Given the description of an element on the screen output the (x, y) to click on. 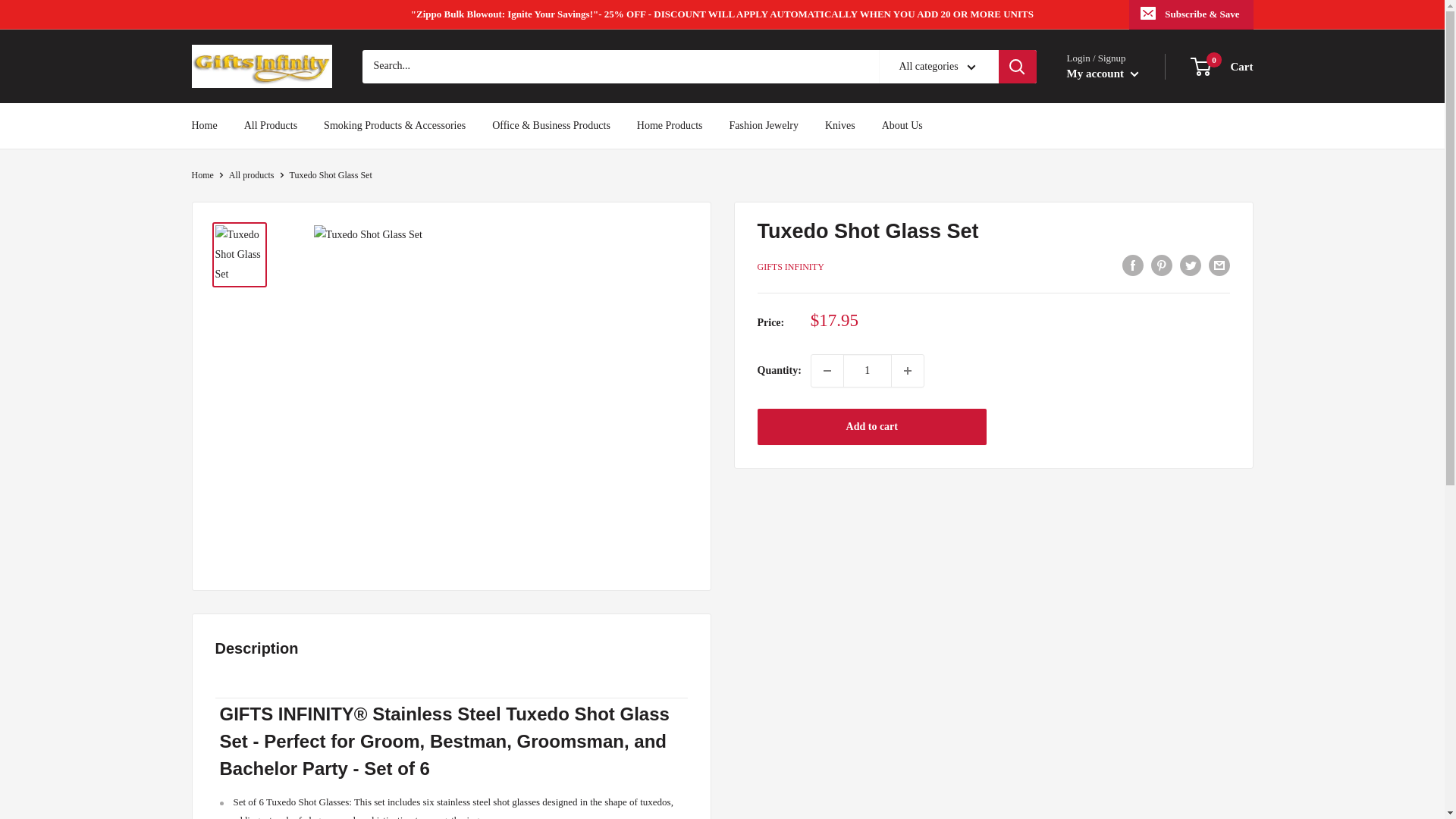
All products (251, 174)
Home Products (670, 125)
All Products (270, 125)
Gifts Infinity (1222, 66)
Knives (260, 66)
About Us (840, 125)
Fashion Jewelry (902, 125)
Home (763, 125)
Decrease quantity by 1 (201, 174)
